Given the description of an element on the screen output the (x, y) to click on. 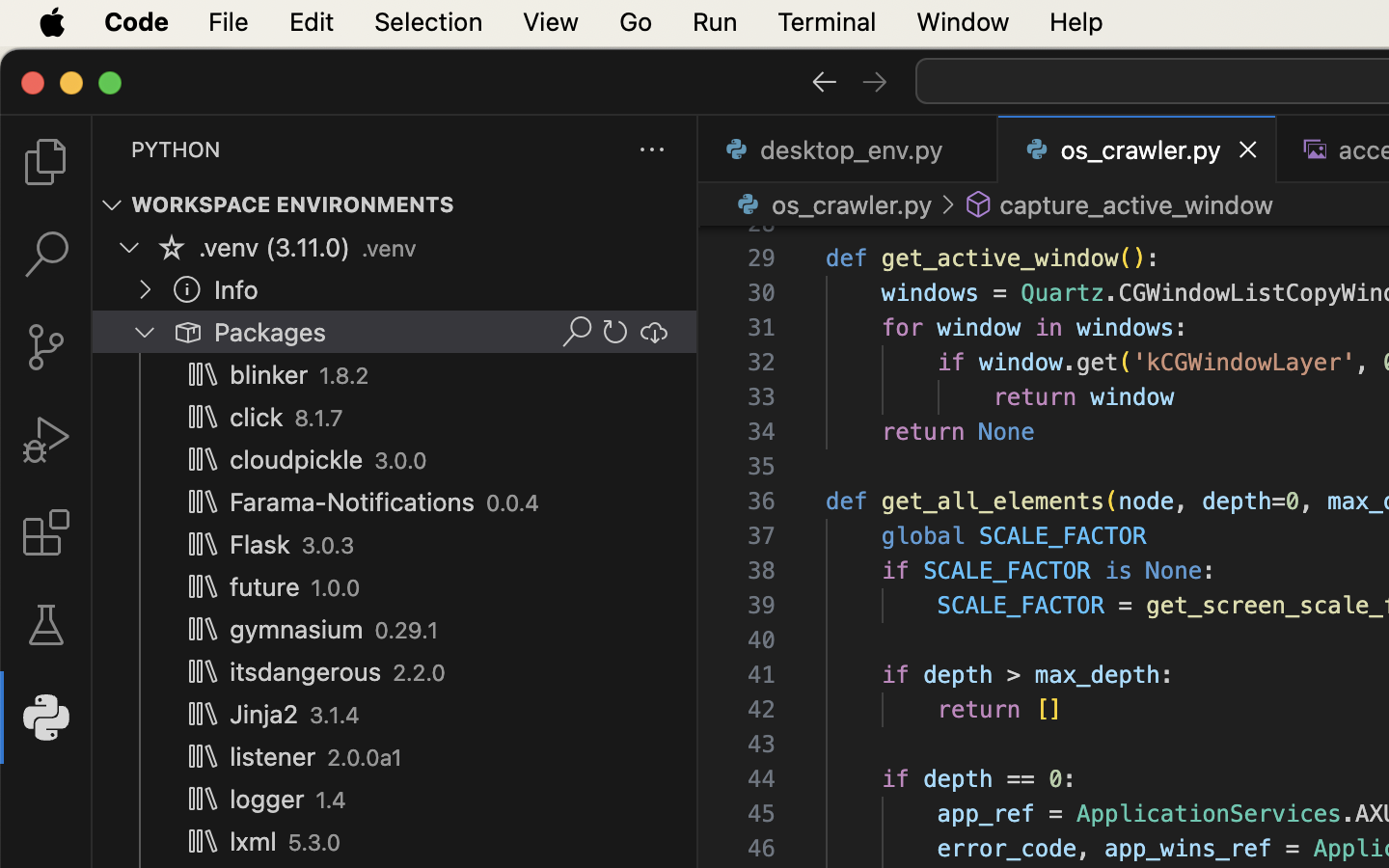
0 desktop_env.py   Element type: AXRadioButton (848, 149)
PYTHON Element type: AXStaticText (176, 149)
 Element type: AXStaticText (1315, 149)
.venv Element type: AXStaticText (388, 248)
Jinja2 Element type: AXStaticText (264, 714)
